Given the description of an element on the screen output the (x, y) to click on. 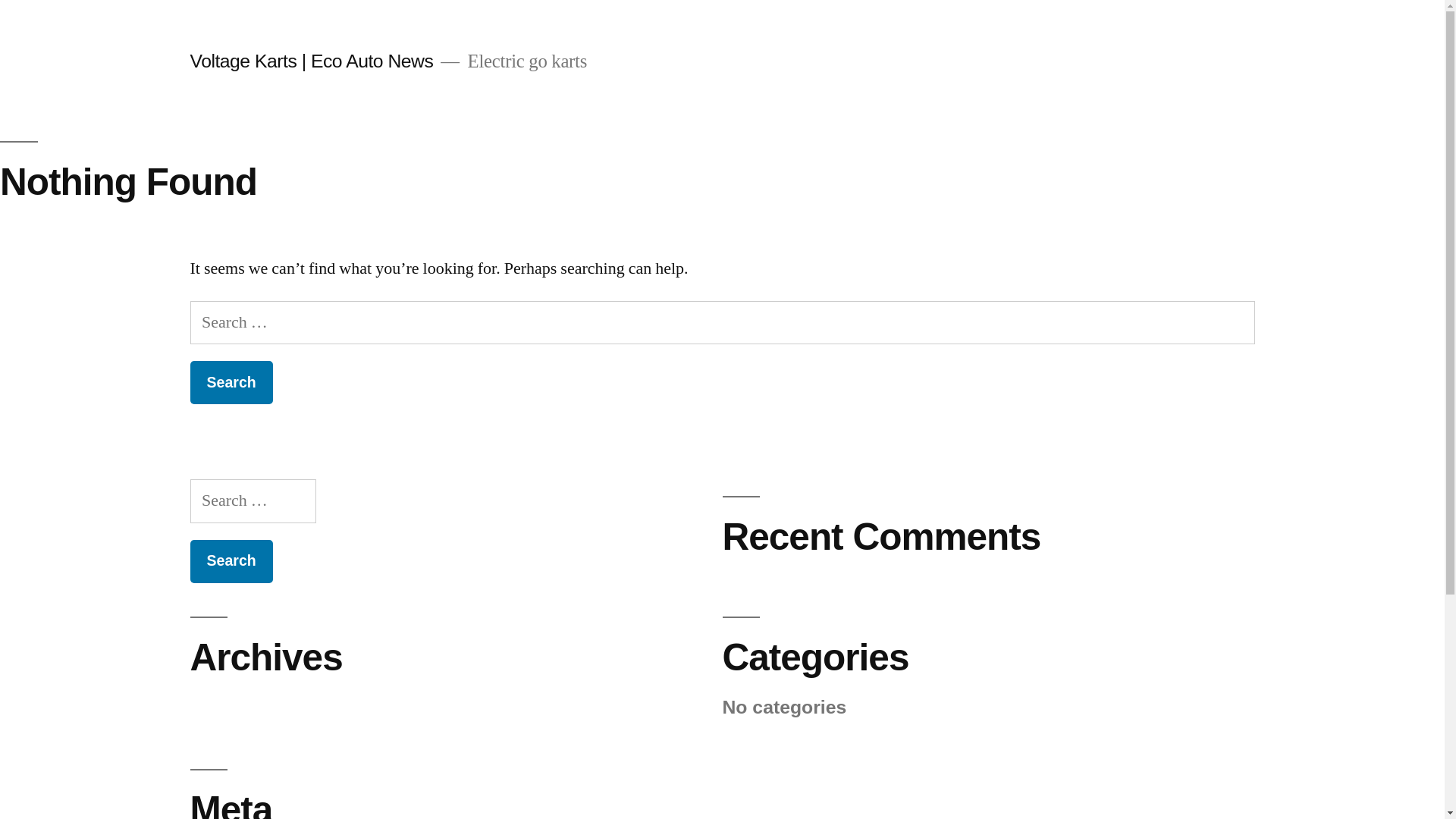
Search Element type: text (230, 561)
Voltage Karts | Eco Auto News Element type: text (311, 60)
Search Element type: text (230, 382)
